Given the description of an element on the screen output the (x, y) to click on. 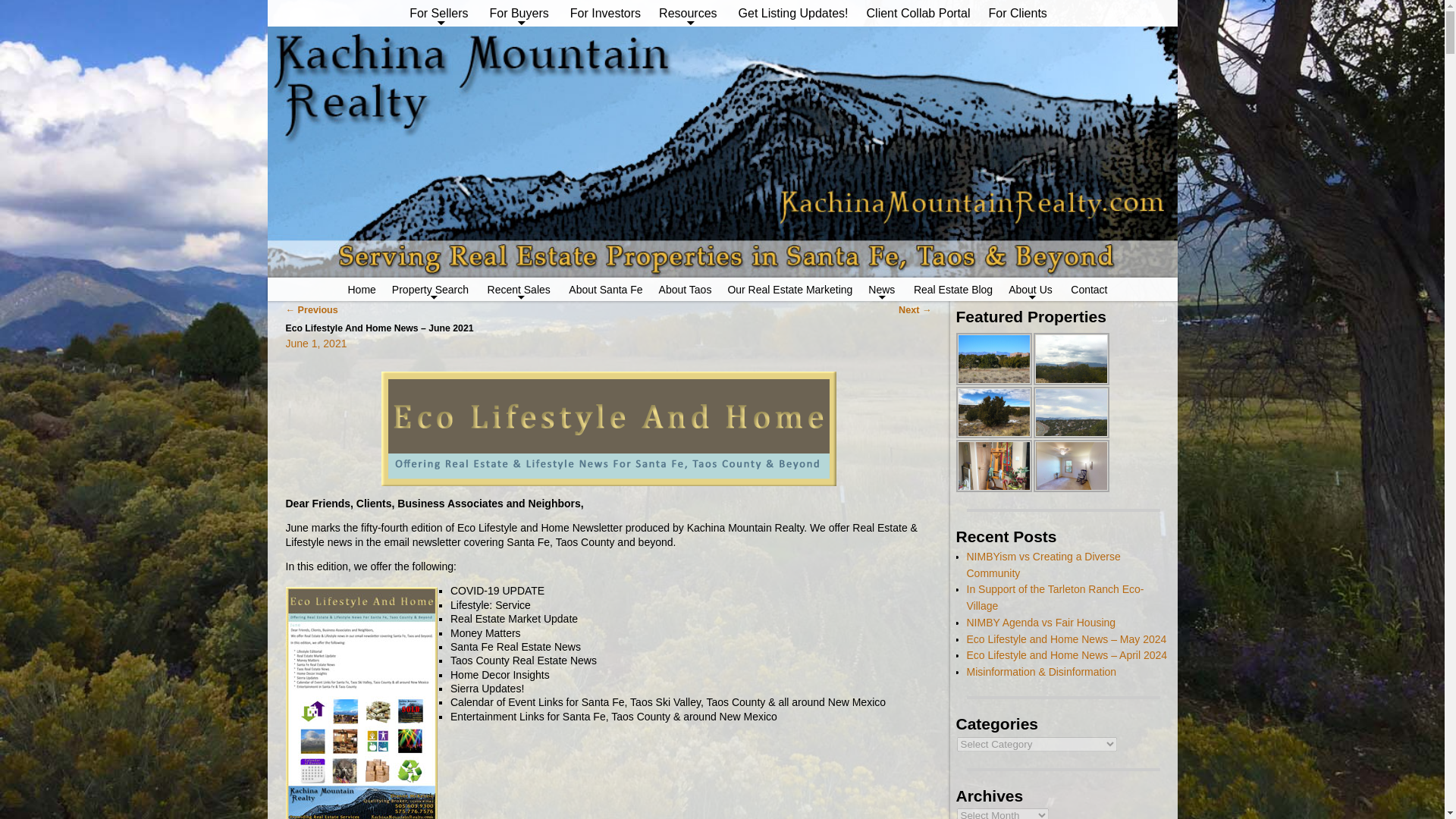
sunroom-4 (992, 465)
Client Collab Portal (918, 13)
Home (361, 289)
For Buyers (520, 13)
For Sellers (440, 13)
north-west-1 (992, 412)
For Investors (604, 13)
Get Listing Updates! (793, 13)
About Santa Fe (605, 289)
For Clients (1018, 13)
west4 (1070, 412)
DSCN0365 (992, 358)
Recent Sales (519, 289)
Resources (689, 13)
Property Search (431, 289)
